Given the description of an element on the screen output the (x, y) to click on. 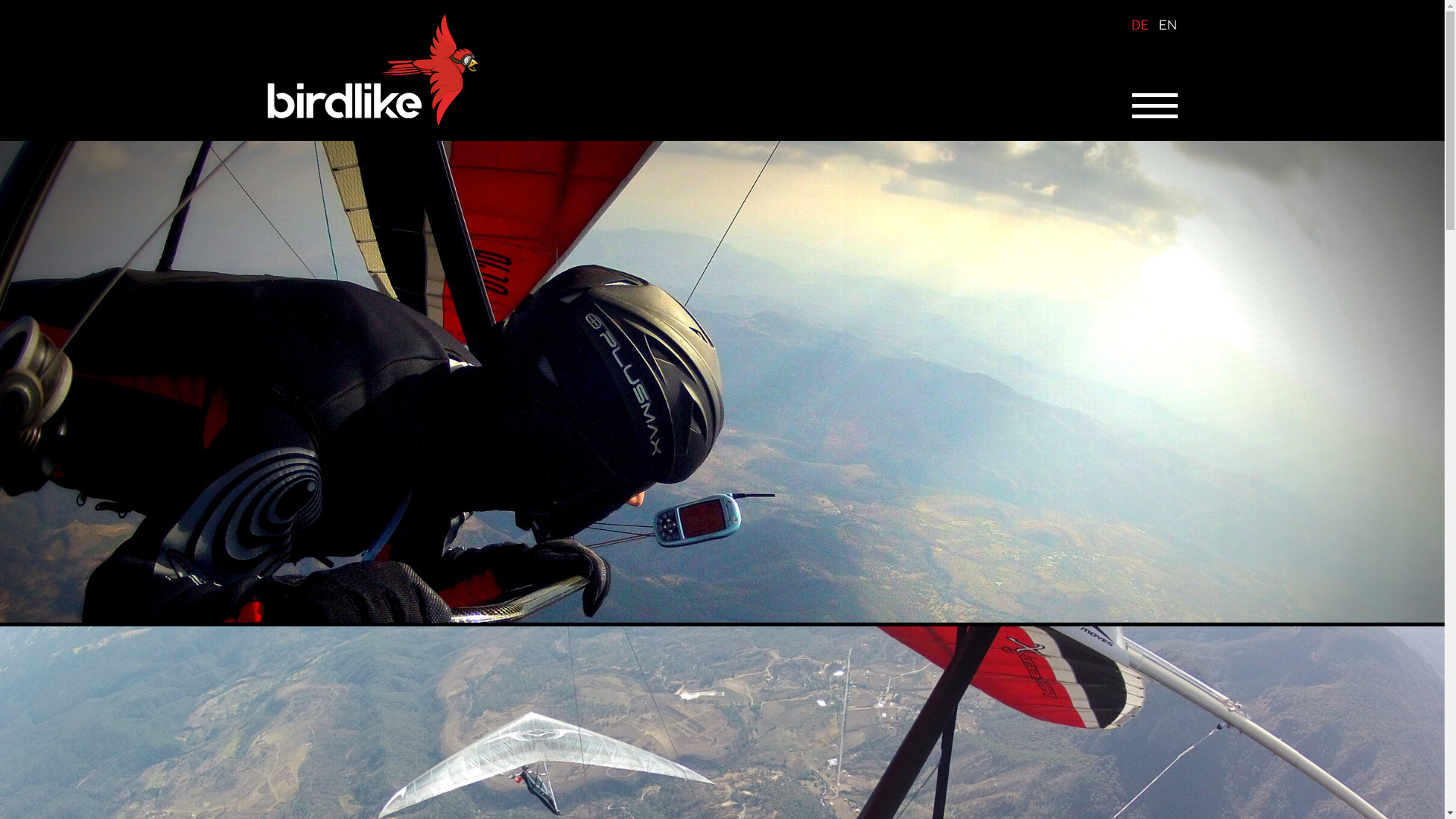
EN Element type: text (1167, 25)
DE Element type: text (1139, 25)
